Given the description of an element on the screen output the (x, y) to click on. 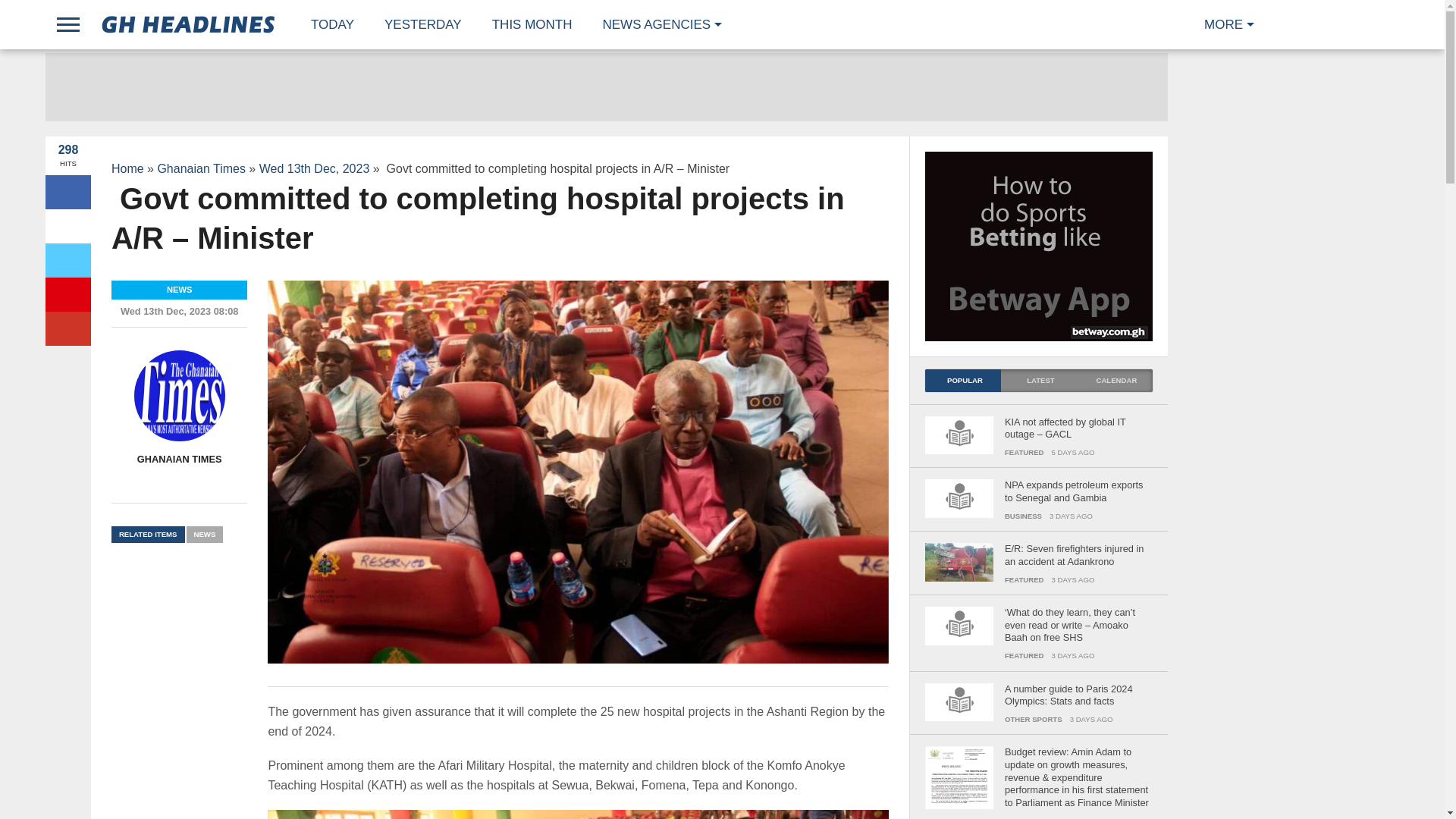
Pin This Post (67, 294)
Share on Facebook (67, 226)
Today Thu 25 Jul,2024 News  (332, 24)
Posts by Ghanaian Times (179, 459)
Tweet This Post (67, 260)
Ghanaian Times (201, 168)
New for Jul 2024 (532, 24)
Yesterday's News (423, 24)
Wed 13th Dec, 2023 (314, 168)
Share on Facebook (67, 192)
